Given the description of an element on the screen output the (x, y) to click on. 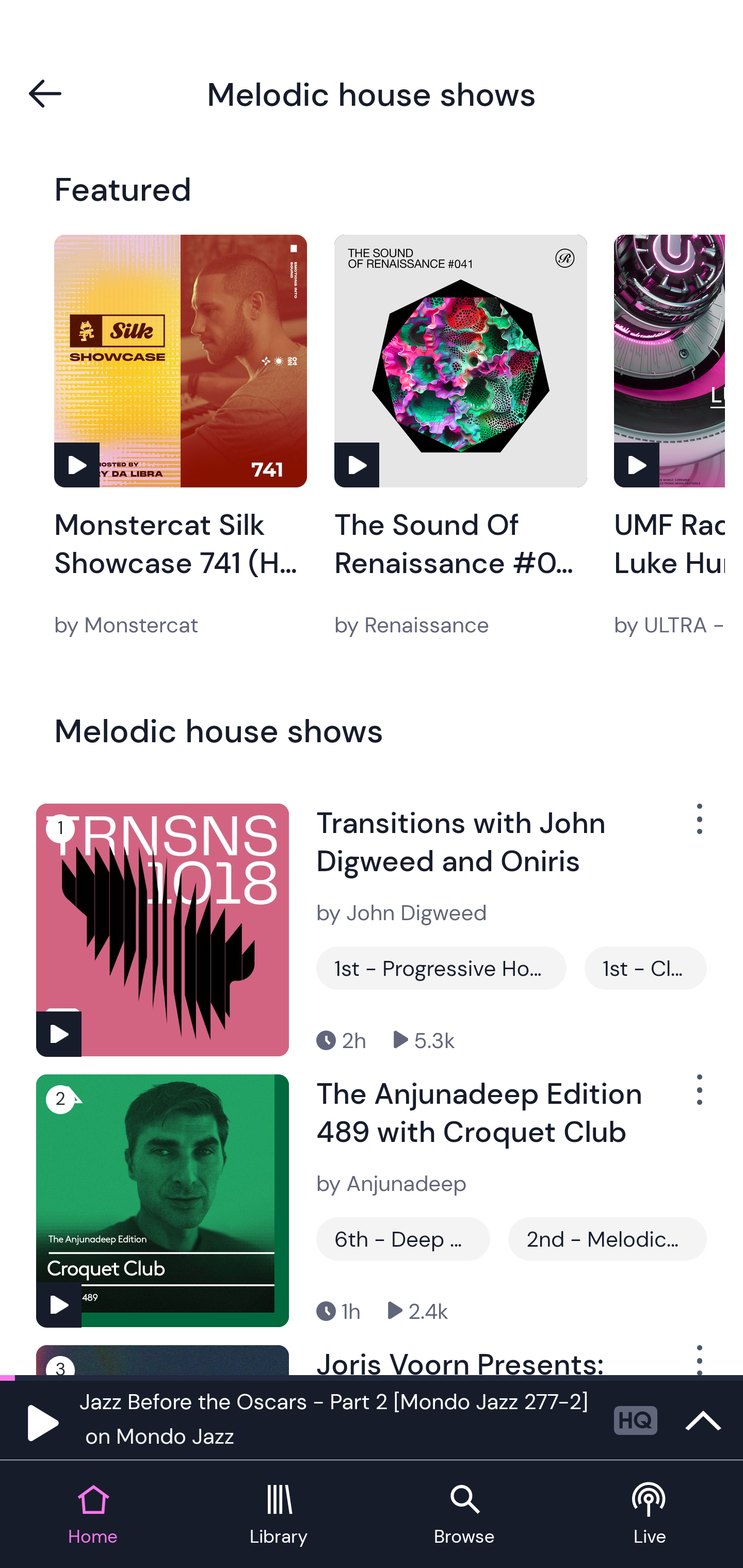
Show Options Menu Button (697, 825)
1st - Progressive House (441, 968)
1st - Club (645, 968)
Show Options Menu Button (697, 1097)
6th - Deep House (403, 1238)
2nd - Melodic House (607, 1238)
Show Options Menu Button (697, 1360)
Home tab Home (92, 1515)
Library tab Library (278, 1515)
Browse tab Browse (464, 1515)
Live tab Live (650, 1515)
